Given the description of an element on the screen output the (x, y) to click on. 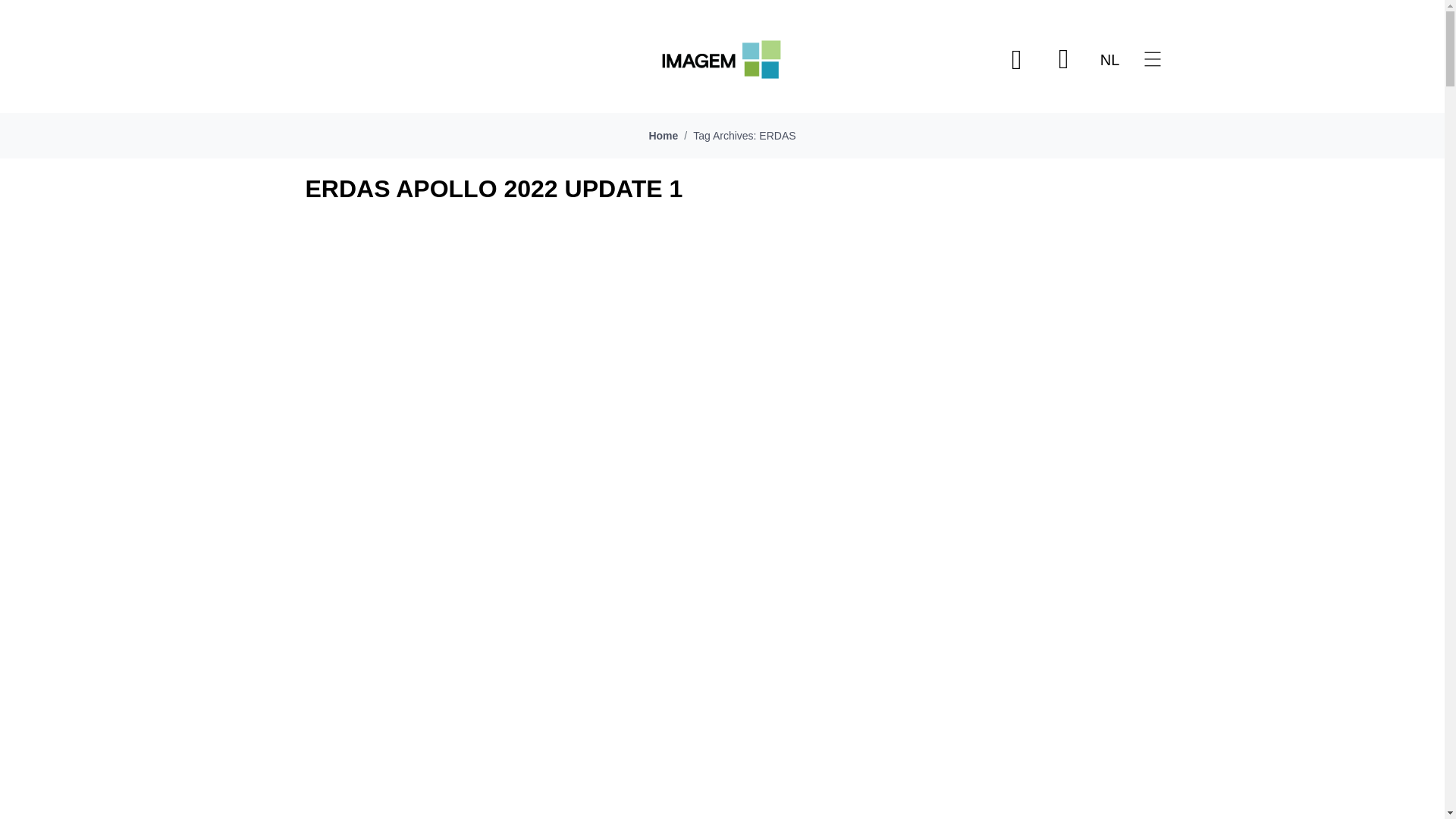
NL (1109, 59)
ERDAS APOLLO 2022 Update 1 (493, 188)
ERDAS APOLLO 2022 Update 1 (721, 629)
